Given the description of an element on the screen output the (x, y) to click on. 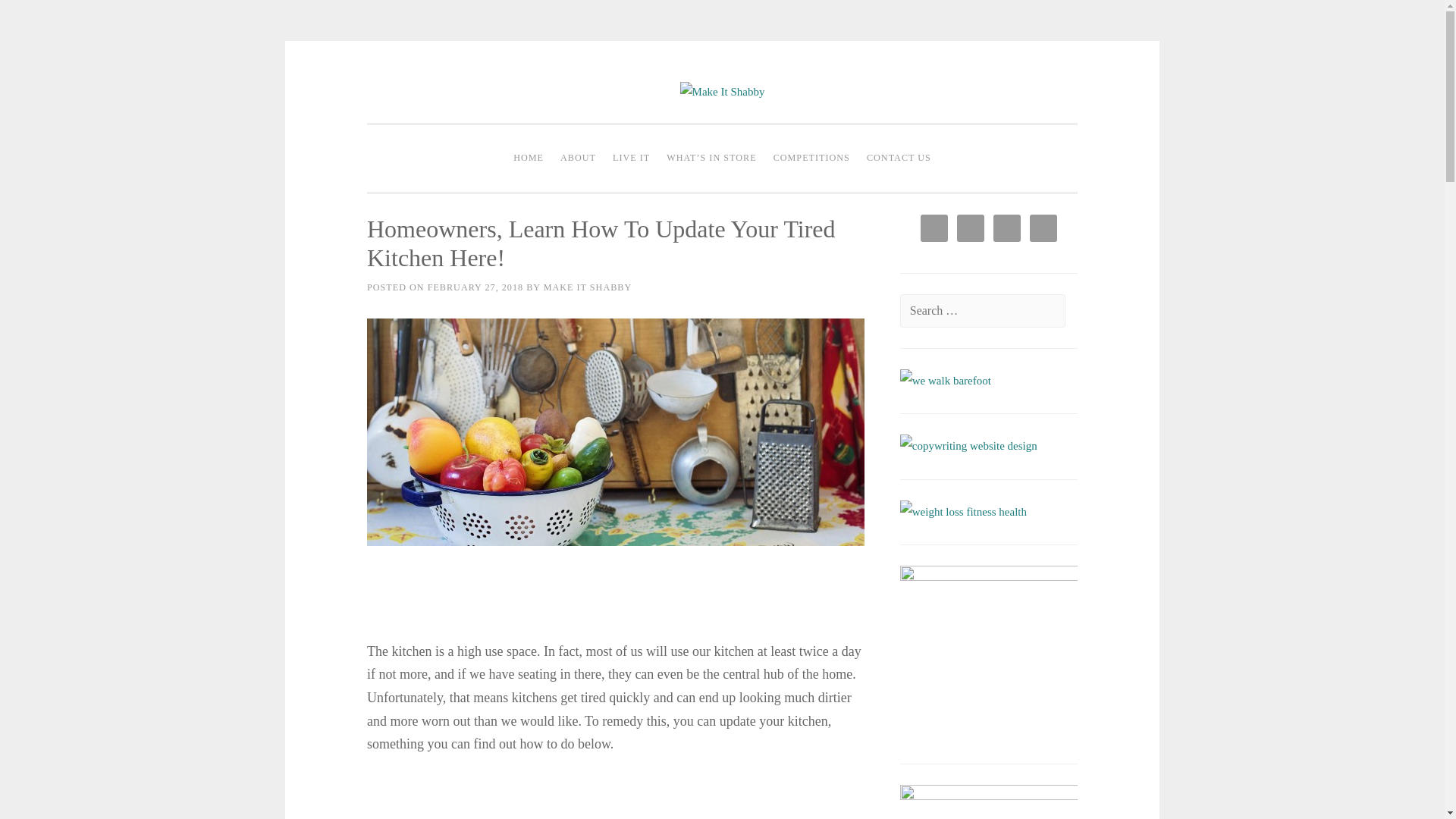
MAKE IT SHABBY (587, 286)
FEBRUARY 27, 2018 (475, 286)
LIVE IT (630, 158)
ABOUT (577, 158)
CONTACT US (898, 158)
Make It Shabby  (722, 91)
COMPETITIONS (812, 158)
HOME (528, 158)
